Given the description of an element on the screen output the (x, y) to click on. 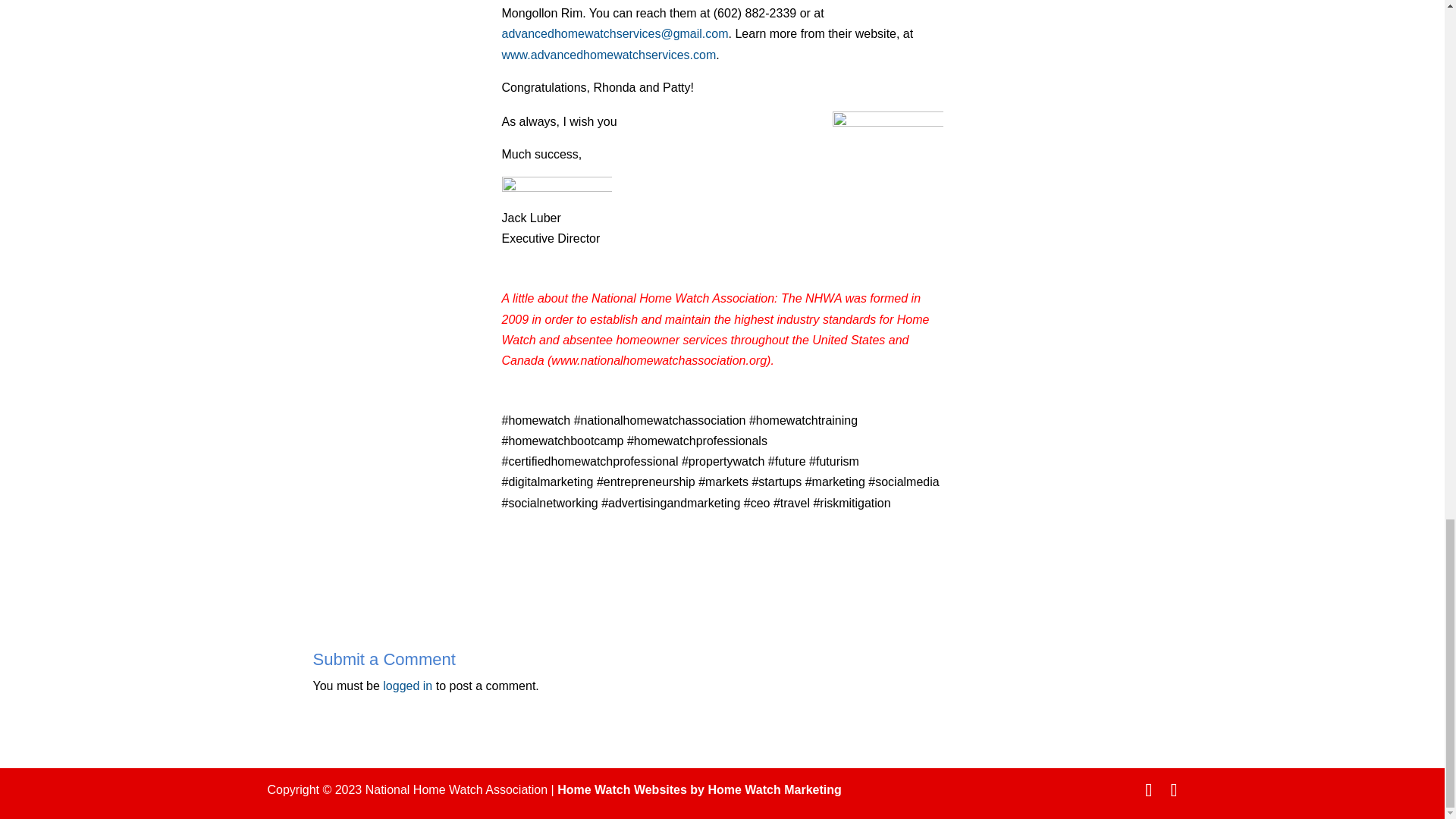
logged in (407, 685)
www.nationalhomewatchassociation.org (659, 359)
www.advancedhomewatchservices.com (609, 54)
